Given the description of an element on the screen output the (x, y) to click on. 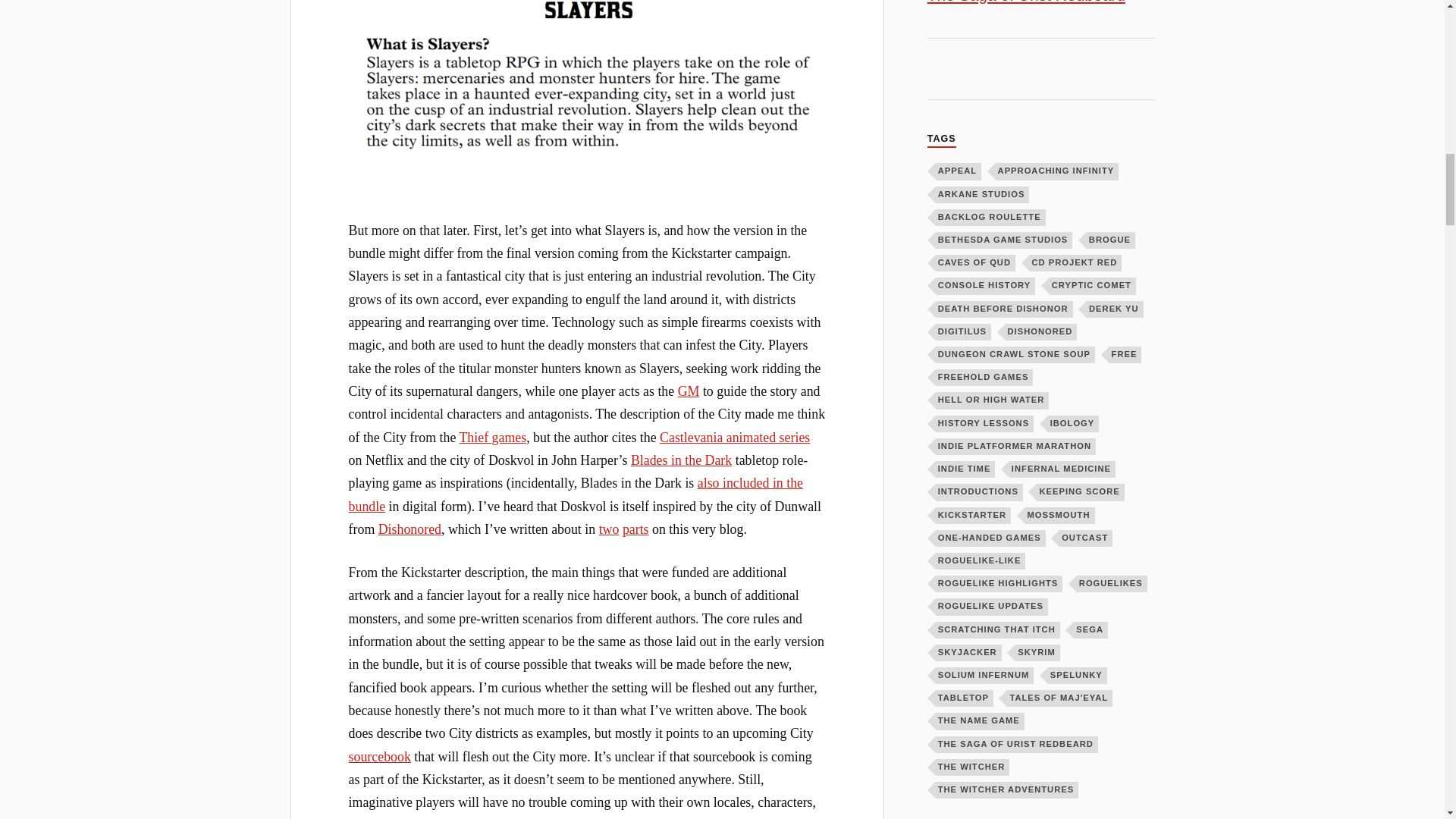
Blades in the Dark (681, 459)
Thief games (491, 437)
Dishonored (409, 529)
Yeah, that sounds like maximum gloom. (587, 79)
Castlevania animated series (734, 437)
GM (689, 391)
sourcebook (379, 756)
also included in the bundle (576, 494)
parts (636, 529)
two (609, 529)
